Given the description of an element on the screen output the (x, y) to click on. 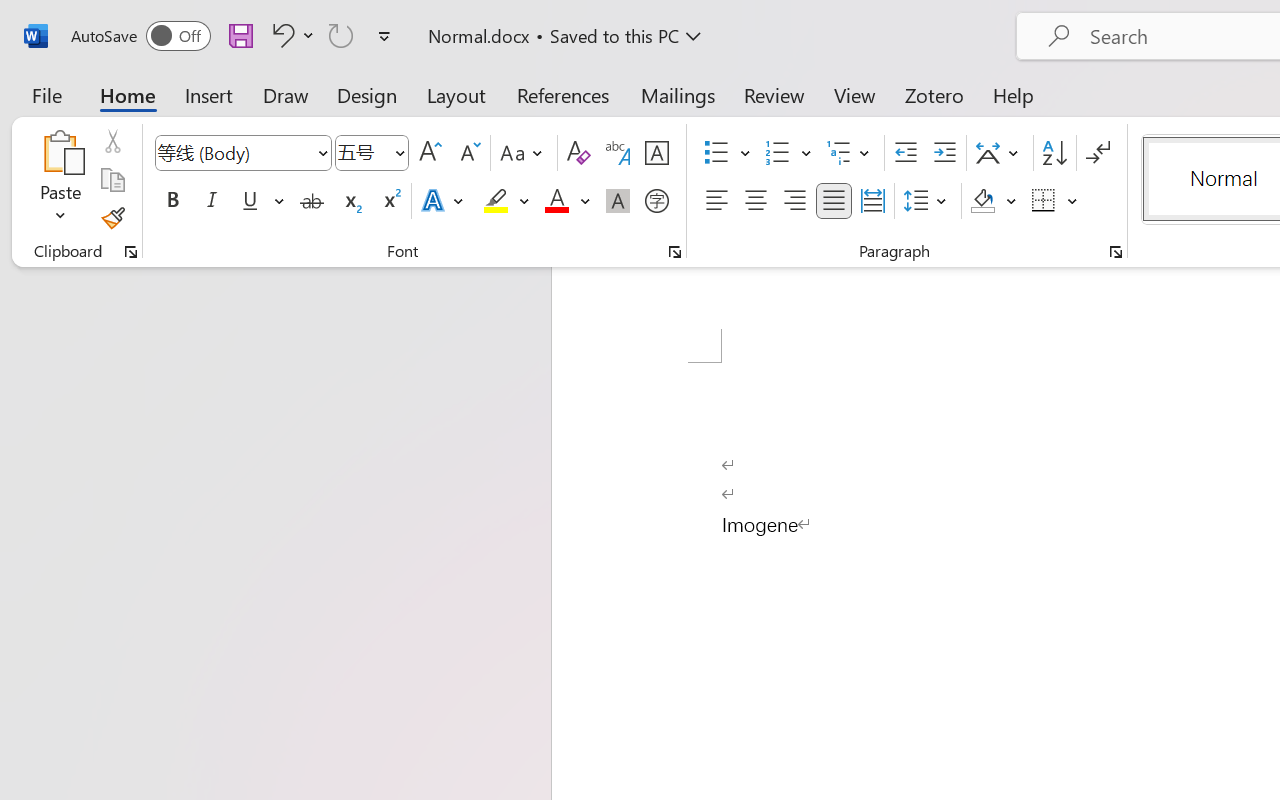
Decrease Indent (906, 153)
Character Border (656, 153)
Font Color RGB(255, 0, 0) (556, 201)
Text Highlight Color Yellow (495, 201)
Office Clipboard... (131, 252)
Can't Repeat (341, 35)
Strikethrough (312, 201)
Shrink Font (468, 153)
Enclose Characters... (656, 201)
Align Right (794, 201)
